Given the description of an element on the screen output the (x, y) to click on. 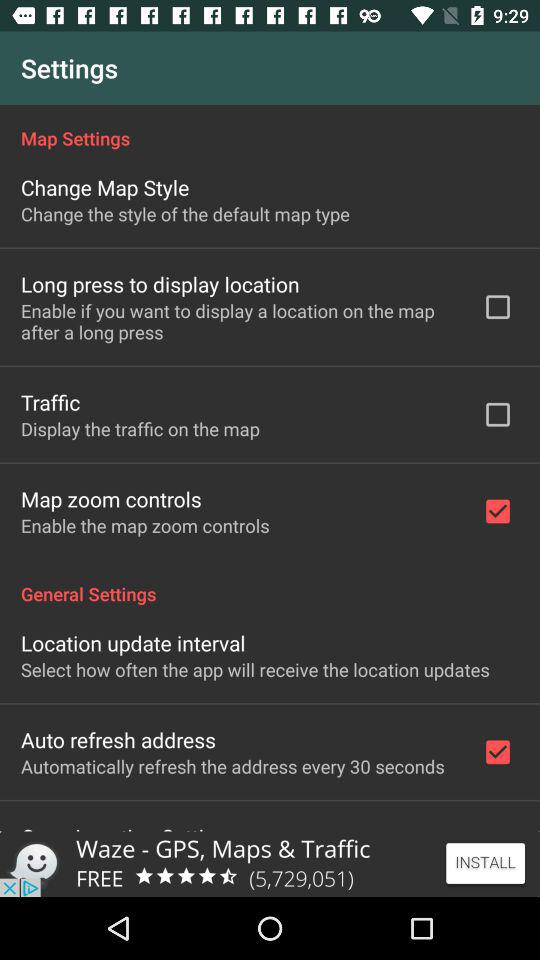
select icon below auto refresh address (232, 766)
